Given the description of an element on the screen output the (x, y) to click on. 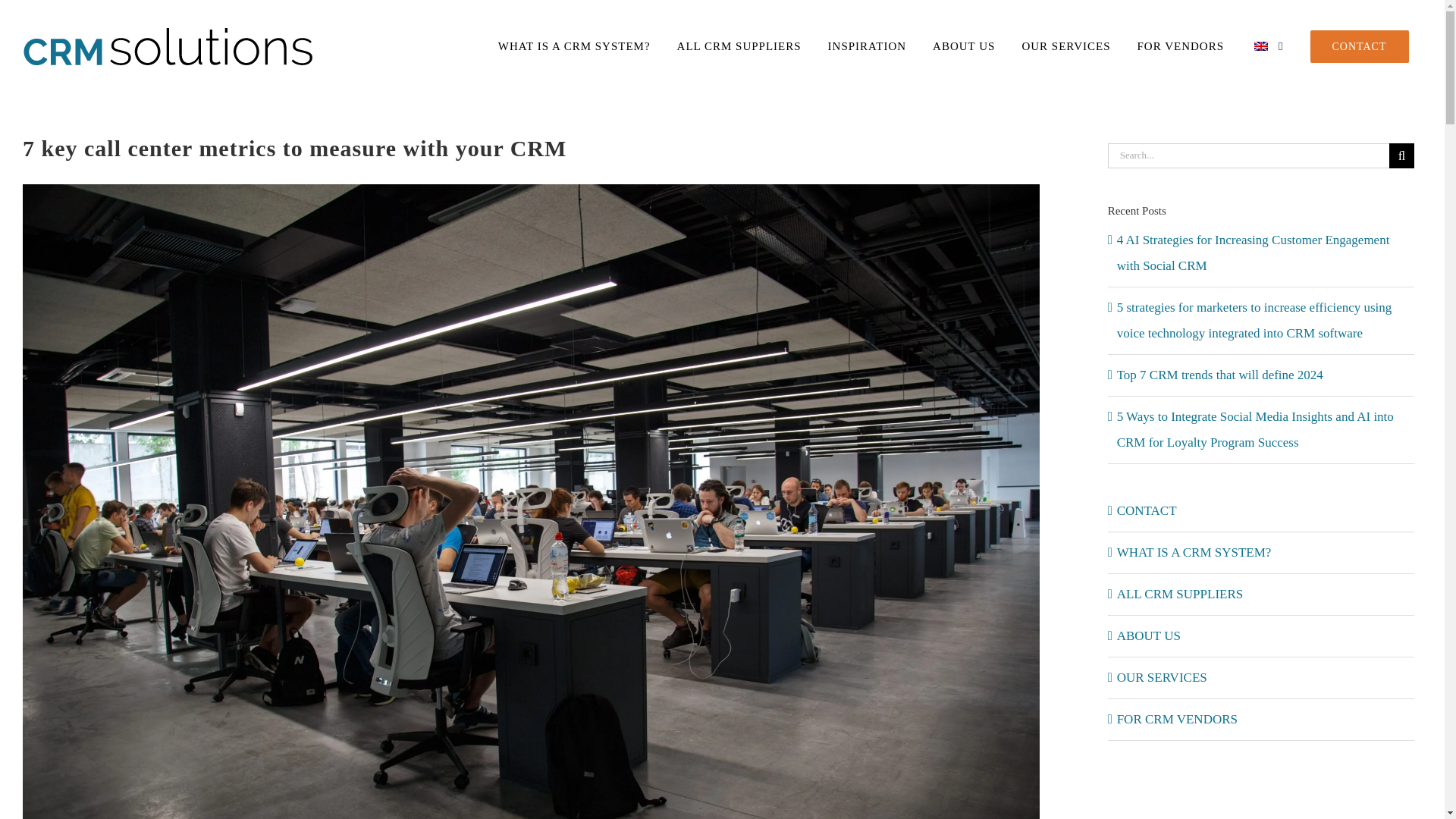
ALL CRM SUPPLIERS (738, 46)
INSPIRATION (866, 46)
CONTACT (1359, 46)
WHAT IS A CRM SYSTEM? (573, 46)
FOR VENDORS (1180, 46)
ABOUT US (964, 46)
OUR SERVICES (1066, 46)
